Given the description of an element on the screen output the (x, y) to click on. 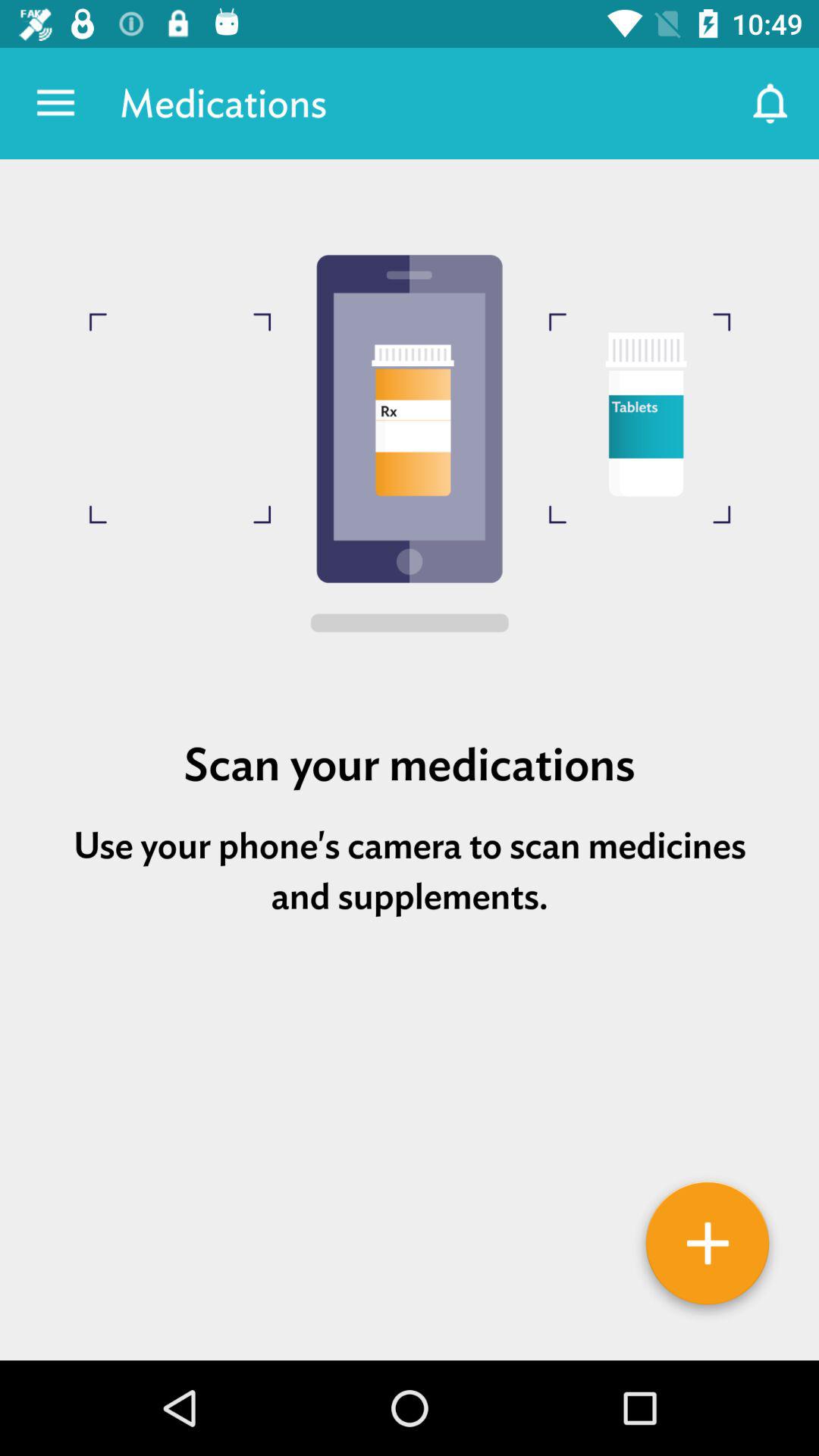
launch item at the top right corner (771, 103)
